Given the description of an element on the screen output the (x, y) to click on. 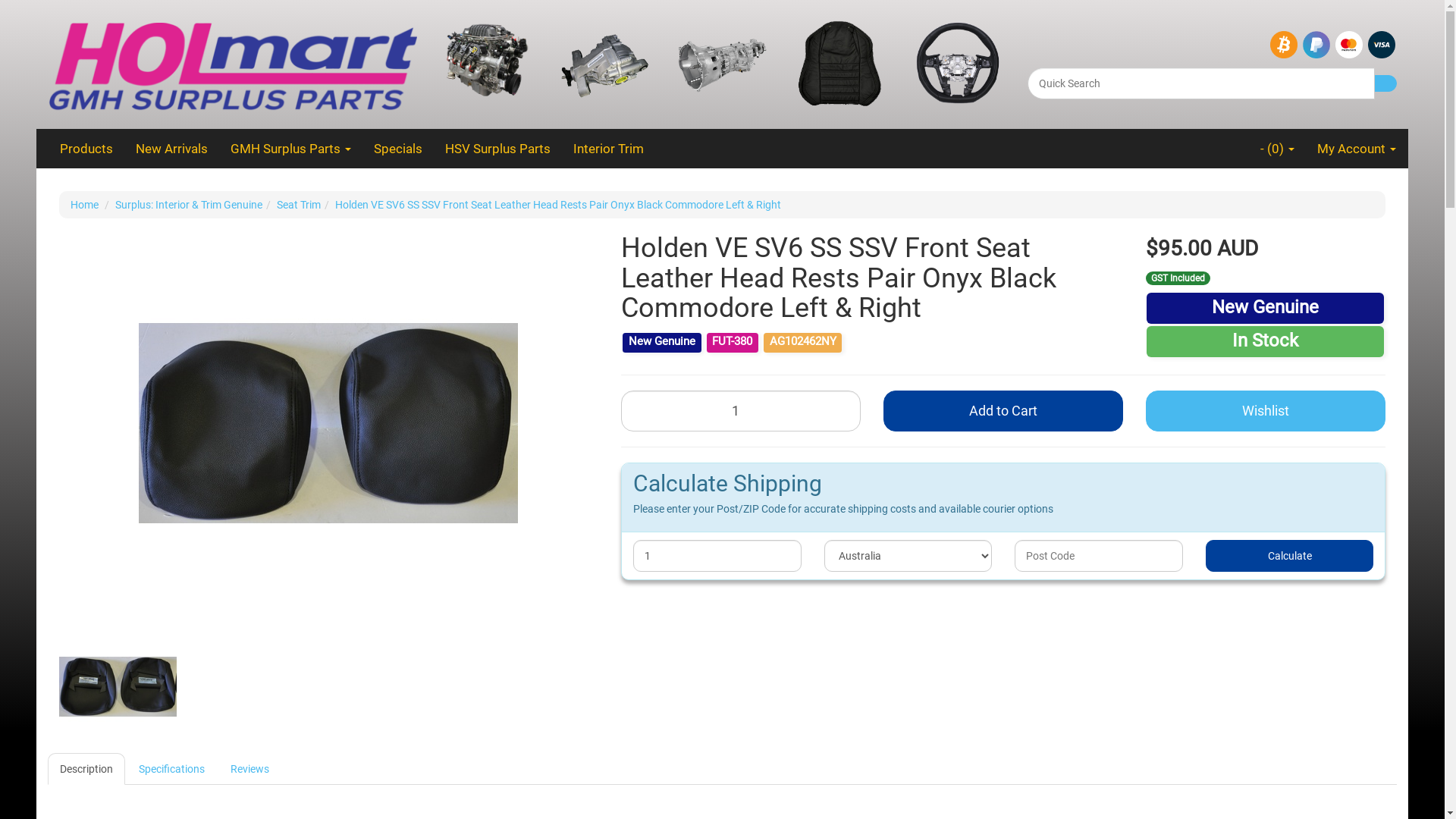
Seat Trim Element type: text (298, 204)
My Account Element type: text (1356, 148)
Reviews Element type: text (249, 768)
- (0) Element type: text (1276, 148)
Specifications Element type: text (171, 768)
Add to Cart Element type: text (1003, 410)
Description Element type: text (86, 768)
Specials Element type: text (397, 148)
Home Element type: text (84, 204)
Large View Element type: hover (117, 686)
Search Element type: text (1385, 83)
Wishlist Element type: text (1265, 410)
Holmart P/L Element type: hover (232, 63)
GMH Surplus Parts Element type: text (290, 148)
Interior Trim Element type: text (608, 148)
New Arrivals Element type: text (171, 148)
Surplus: Interior & Trim Genuine Element type: text (188, 204)
Calculate Element type: text (1289, 555)
Products Element type: text (86, 148)
HSV Surplus Parts Element type: text (497, 148)
